Given the description of an element on the screen output the (x, y) to click on. 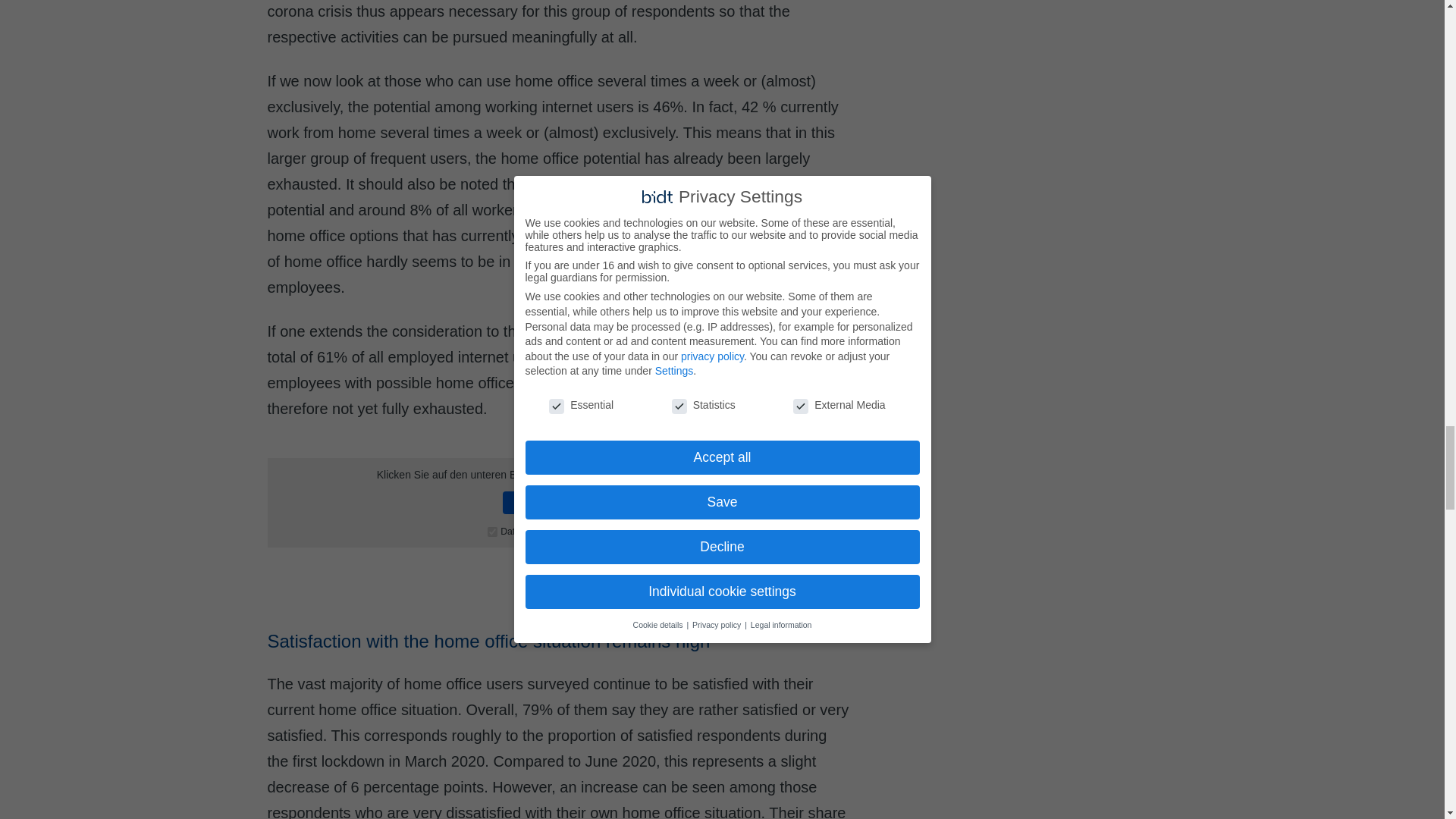
1 (492, 532)
